Given the description of an element on the screen output the (x, y) to click on. 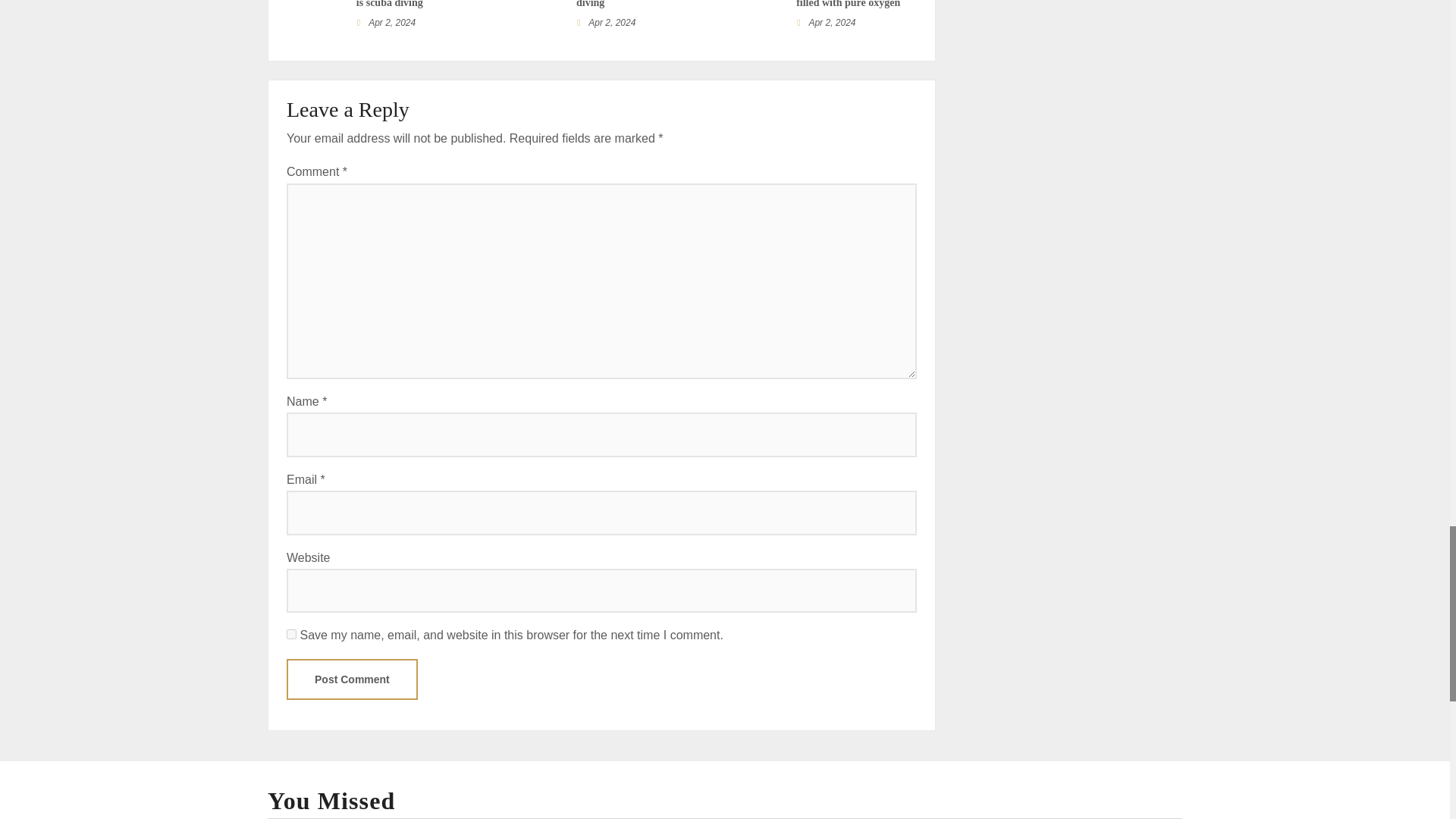
yes (291, 634)
Post Comment (351, 679)
